Given the description of an element on the screen output the (x, y) to click on. 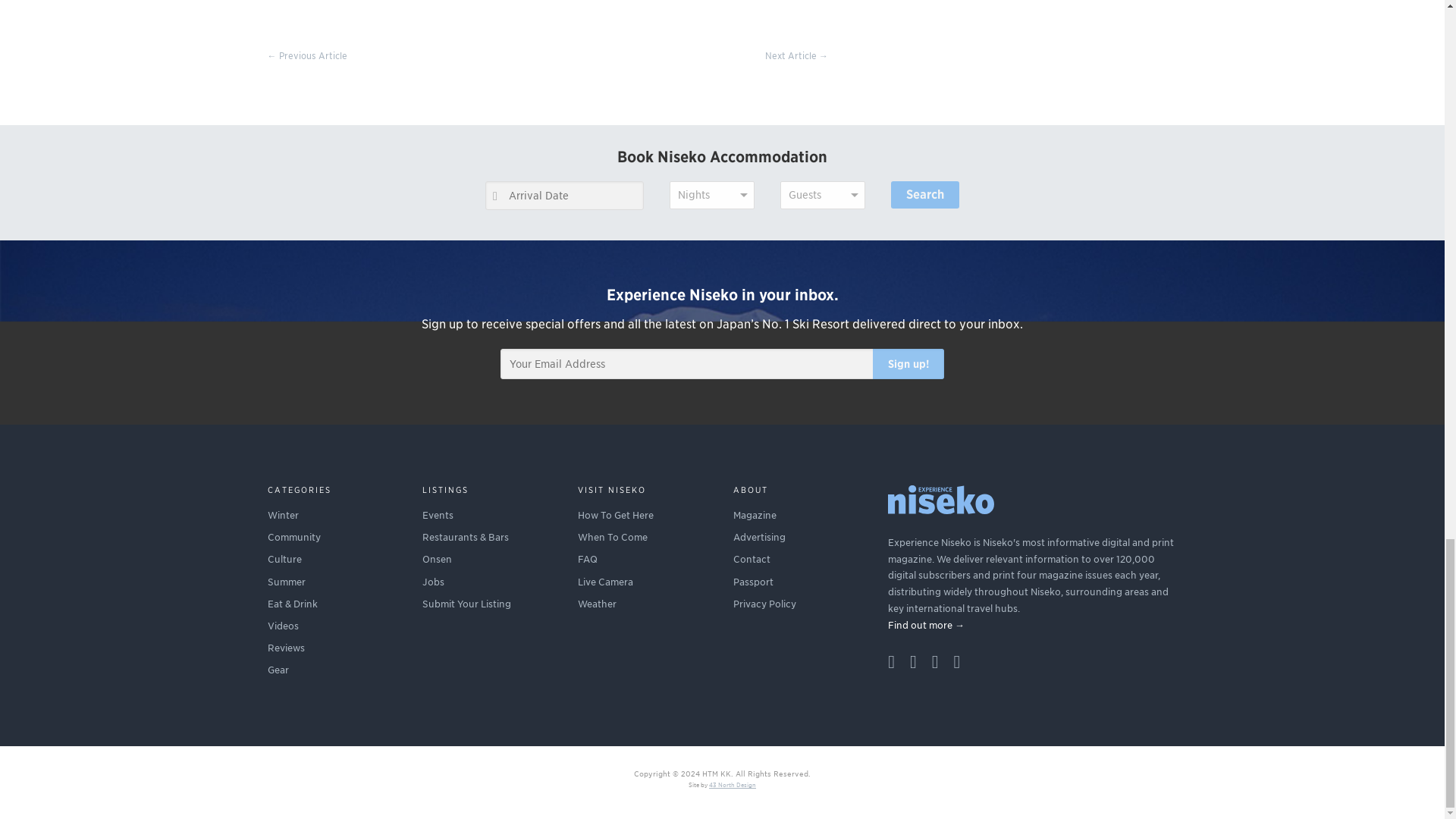
Search (925, 194)
Sign up! (907, 364)
